Given the description of an element on the screen output the (x, y) to click on. 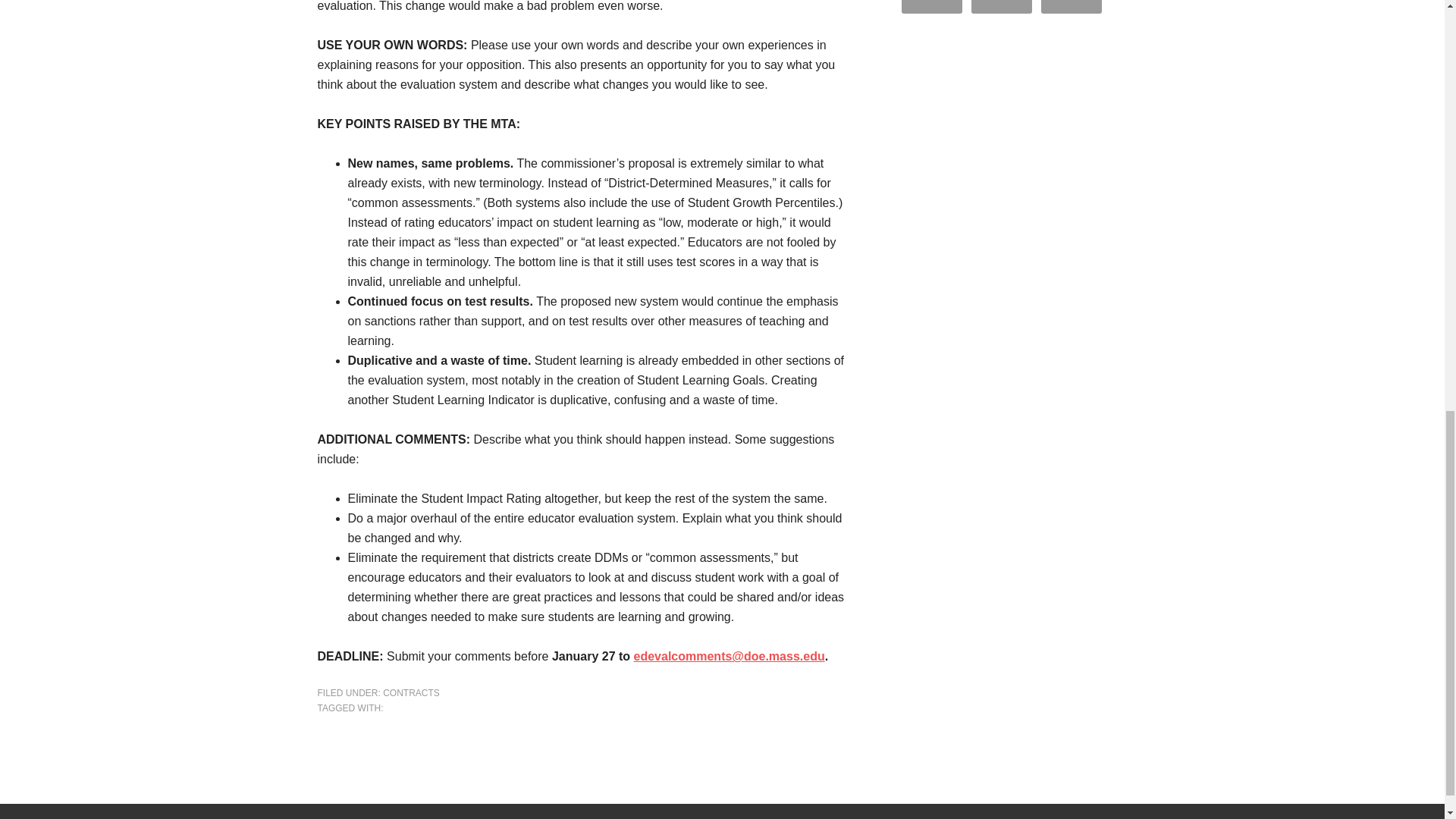
CONTRACTS (410, 692)
